Given the description of an element on the screen output the (x, y) to click on. 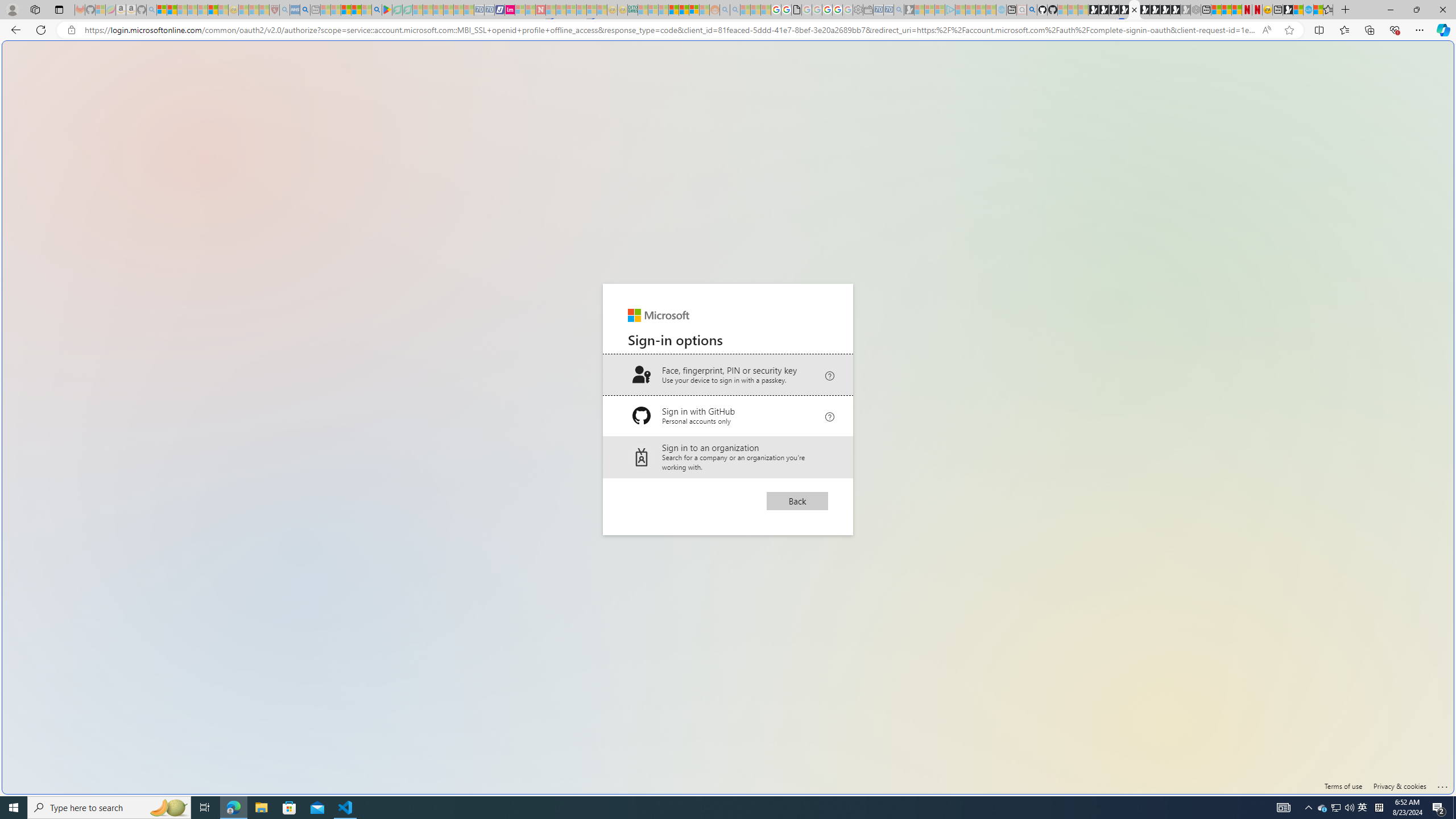
Sign in with GitHub Personal accounts only (727, 415)
Settings - Sleeping (857, 9)
